Given the description of an element on the screen output the (x, y) to click on. 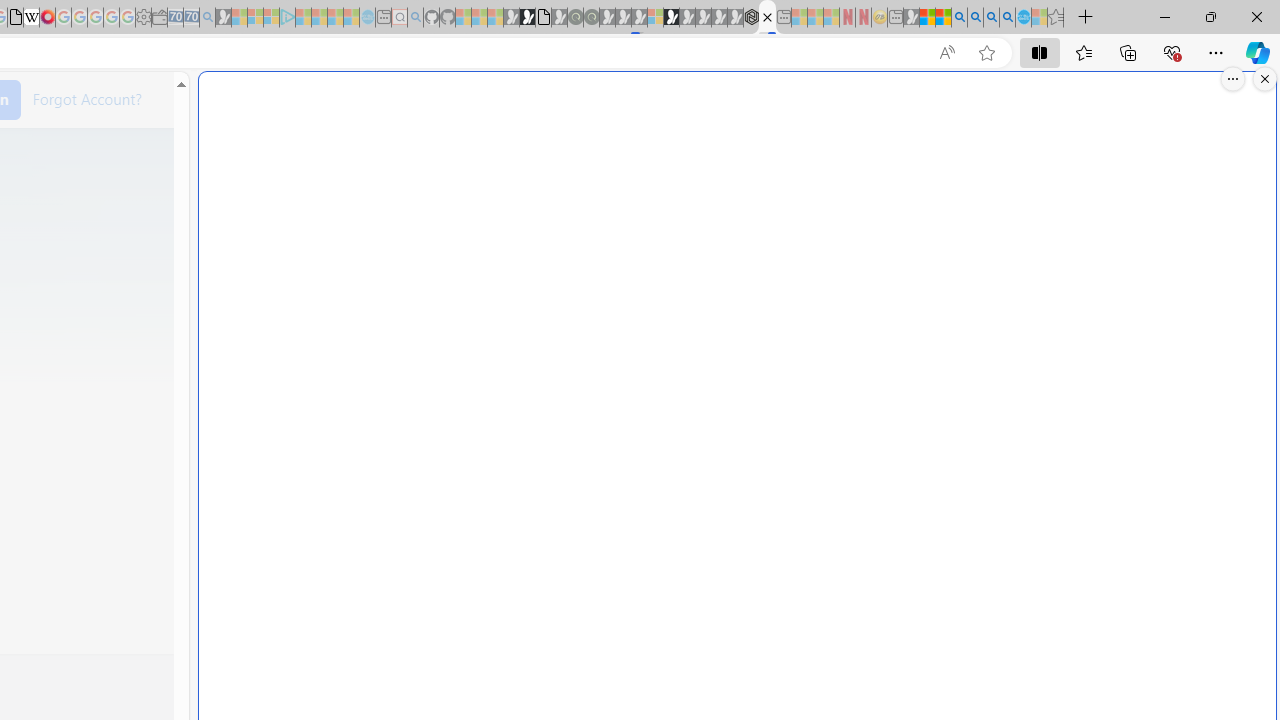
Microsoft Start Gaming - Sleeping (223, 17)
Services - Maintenance | Sky Blue Bikes - Sky Blue Bikes (1023, 17)
Forgot Account? (87, 97)
Play Zoo Boom in your browser | Games from Microsoft Start (527, 17)
github - Search - Sleeping (415, 17)
Microsoft account | Privacy - Sleeping (271, 17)
